Given the description of an element on the screen output the (x, y) to click on. 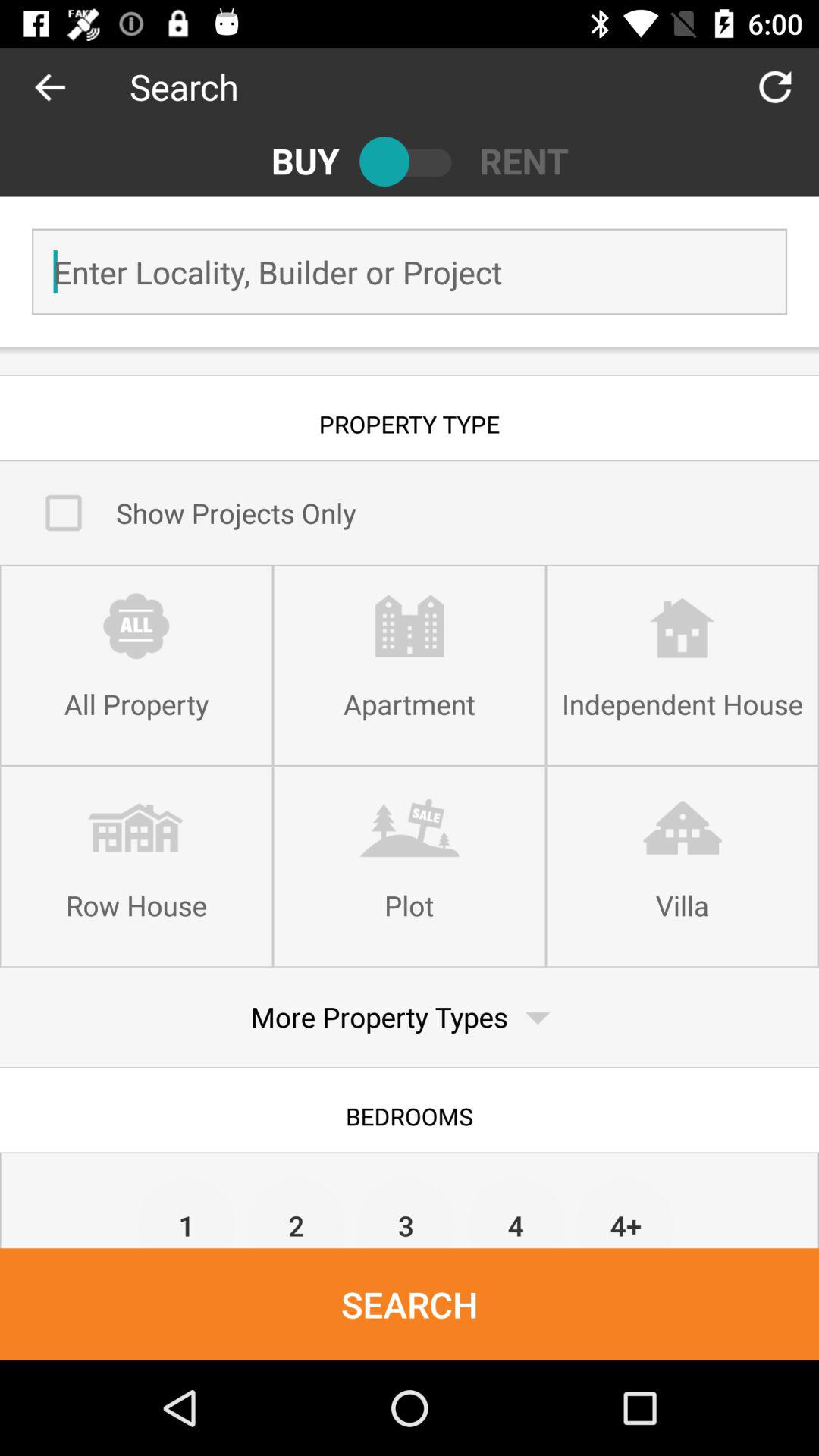
open the icon at the bottom left corner (186, 1212)
